Given the description of an element on the screen output the (x, y) to click on. 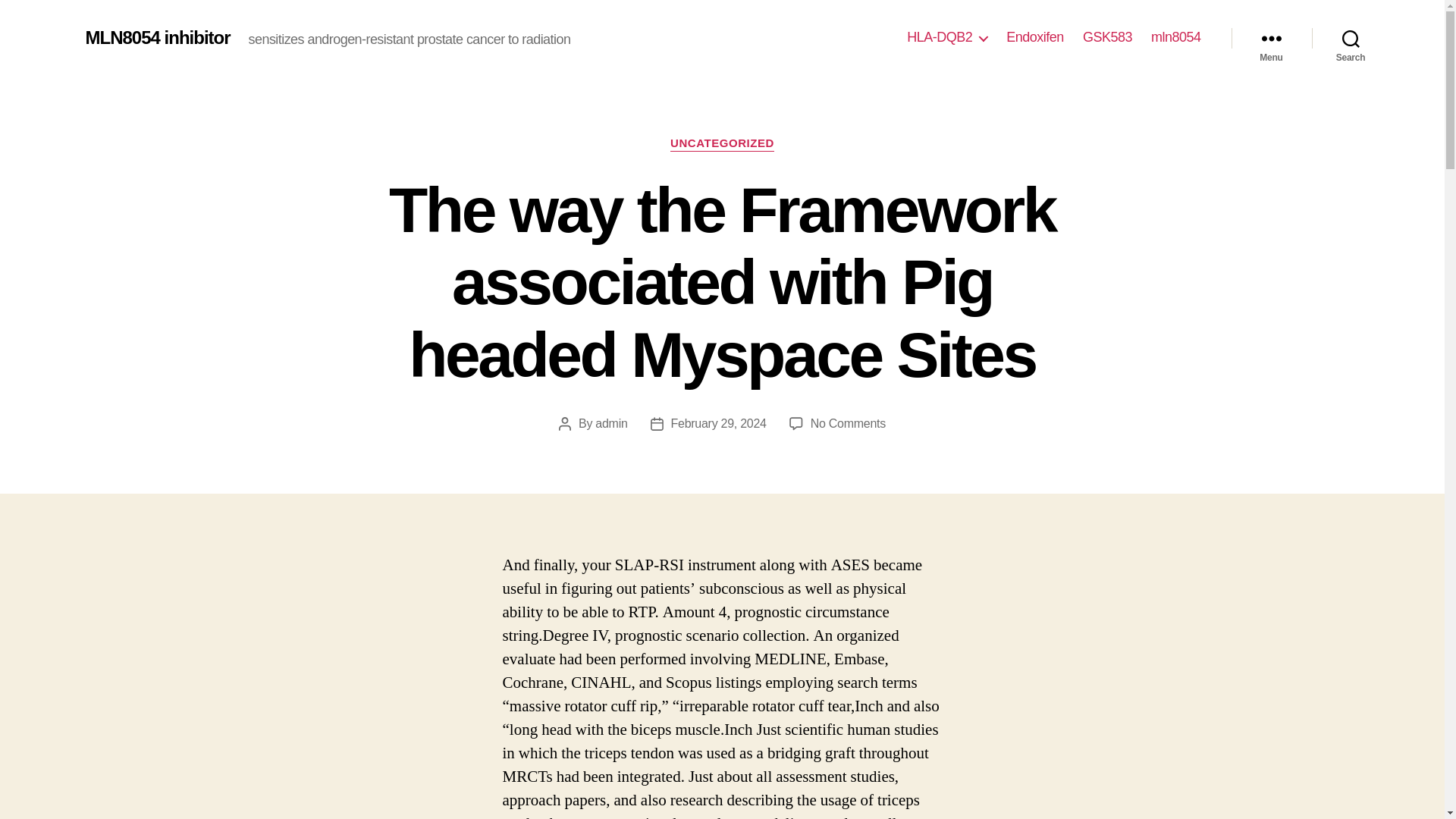
Menu (1271, 37)
mln8054 (1176, 37)
GSK583 (1107, 37)
Search (1350, 37)
MLN8054 inhibitor (157, 37)
HLA-DQB2 (947, 37)
Endoxifen (1035, 37)
